Given the description of an element on the screen output the (x, y) to click on. 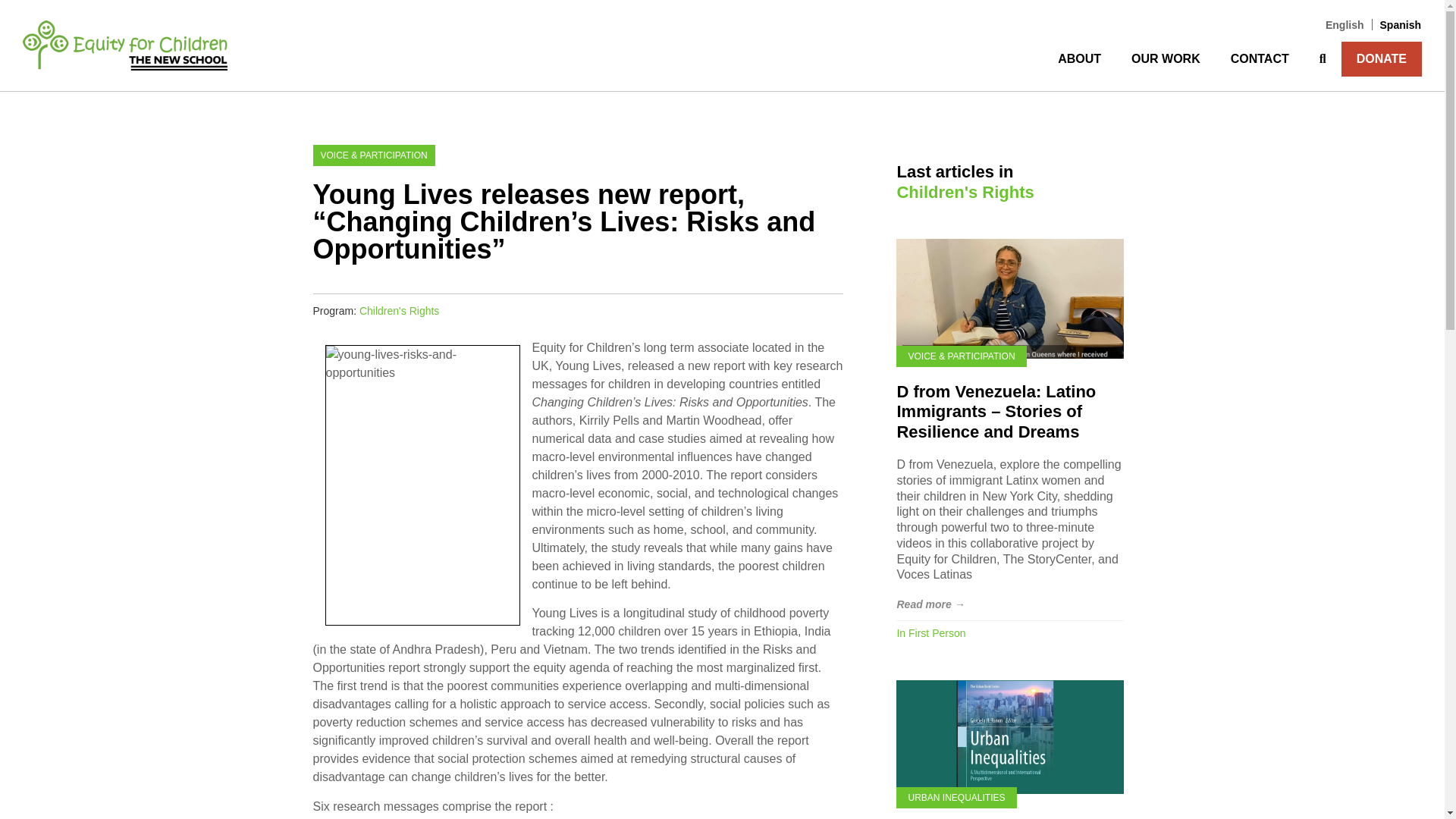
DONATE (1381, 58)
ABOUT (1079, 58)
Spanish (1397, 24)
OUR WORK (1165, 58)
CONTACT (1259, 58)
English (1345, 24)
